Given the description of an element on the screen output the (x, y) to click on. 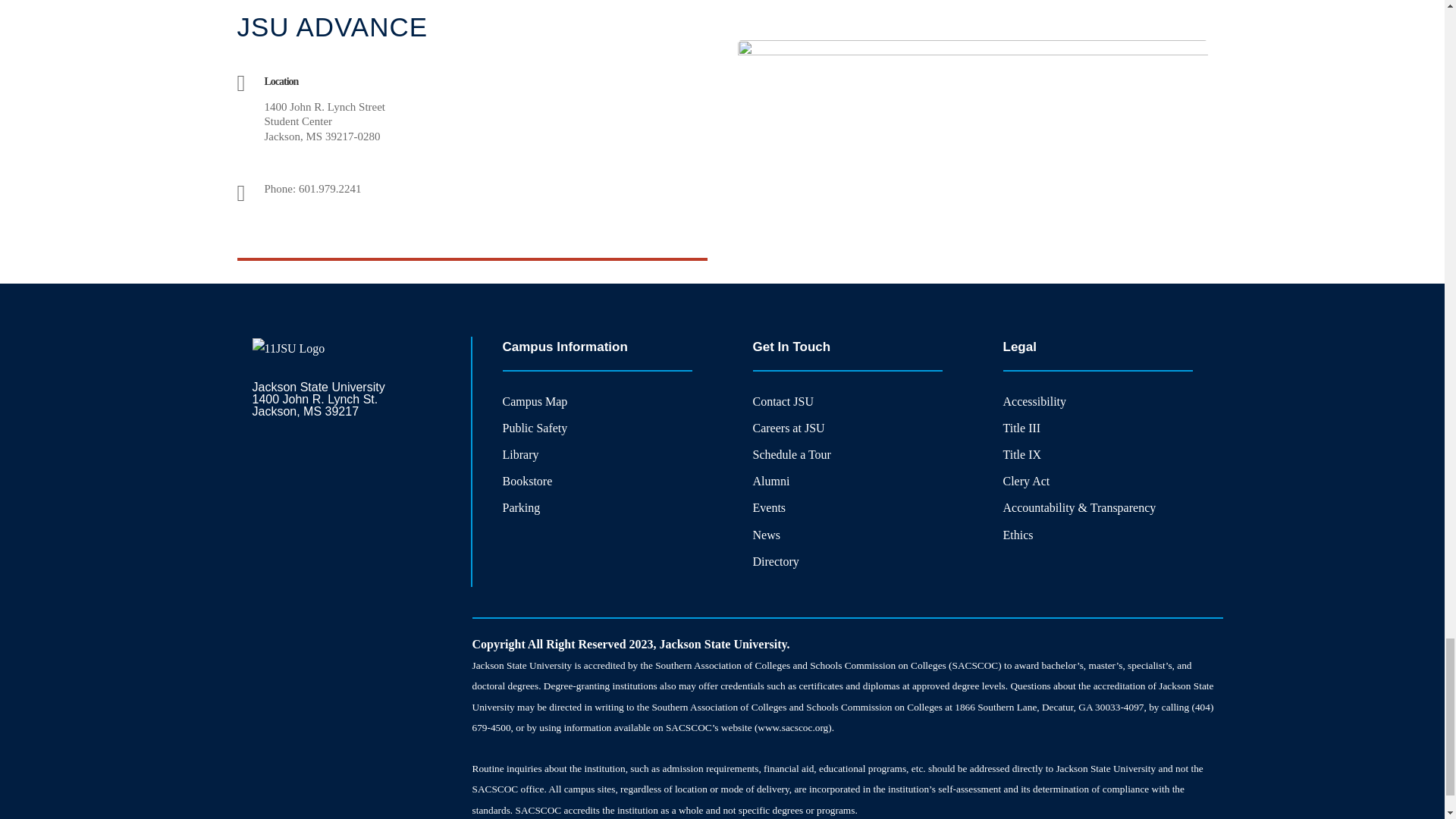
2logo (287, 348)
